Given the description of an element on the screen output the (x, y) to click on. 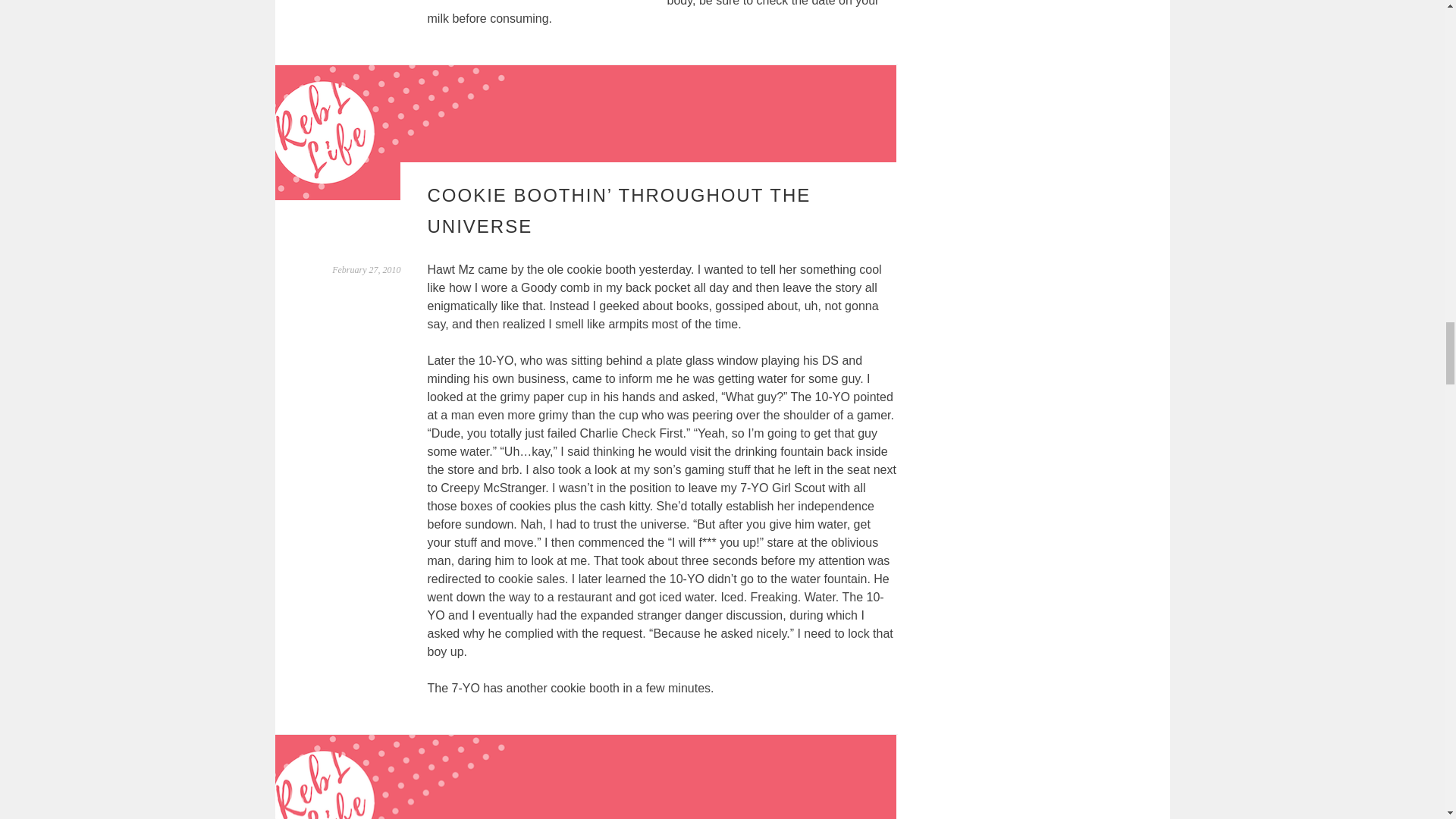
February 27, 2010 (365, 269)
